Given the description of an element on the screen output the (x, y) to click on. 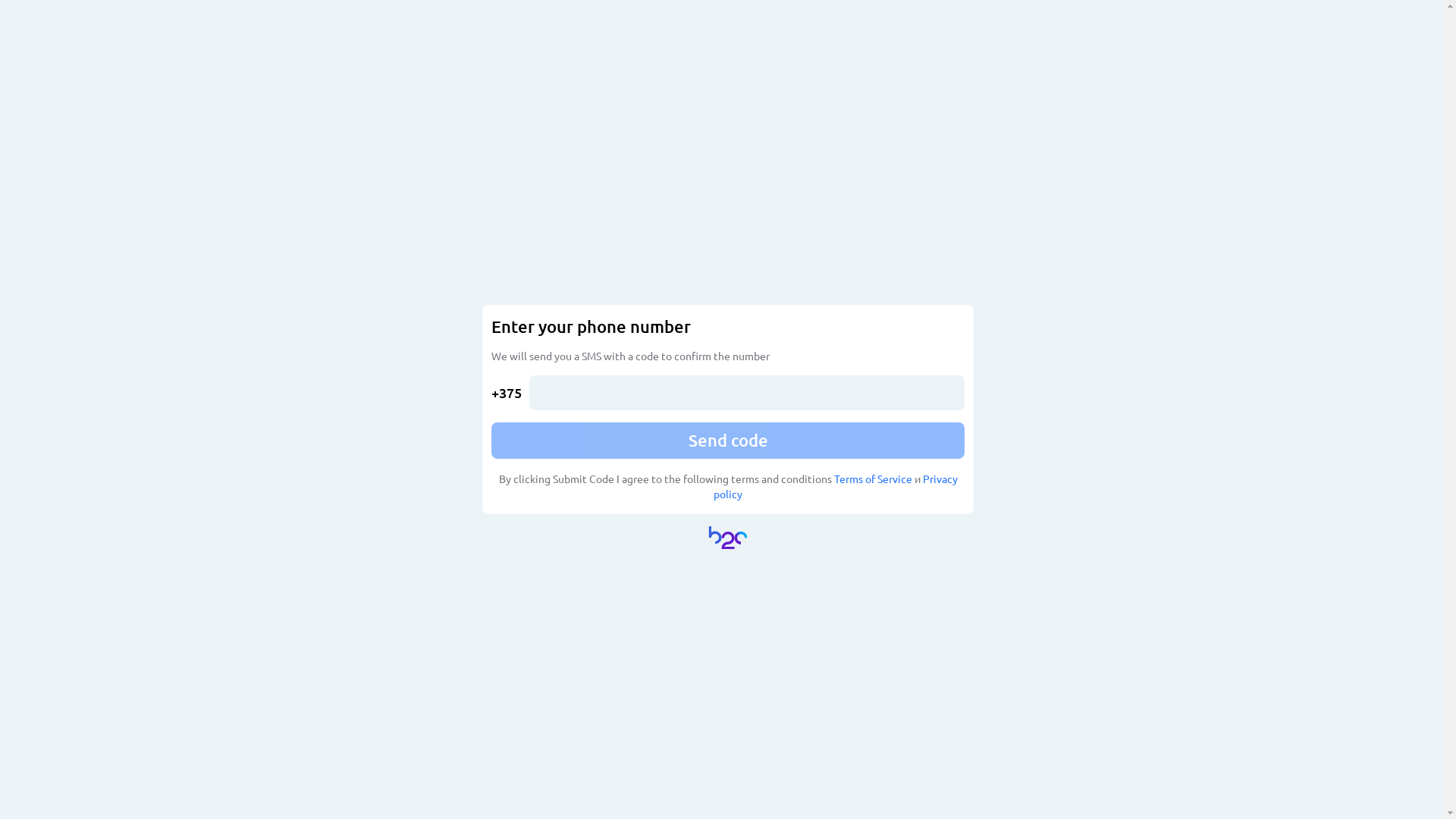
Send code Element type: text (727, 440)
Privacy policy Element type: text (835, 485)
Terms of Service Element type: text (873, 478)
